Given the description of an element on the screen output the (x, y) to click on. 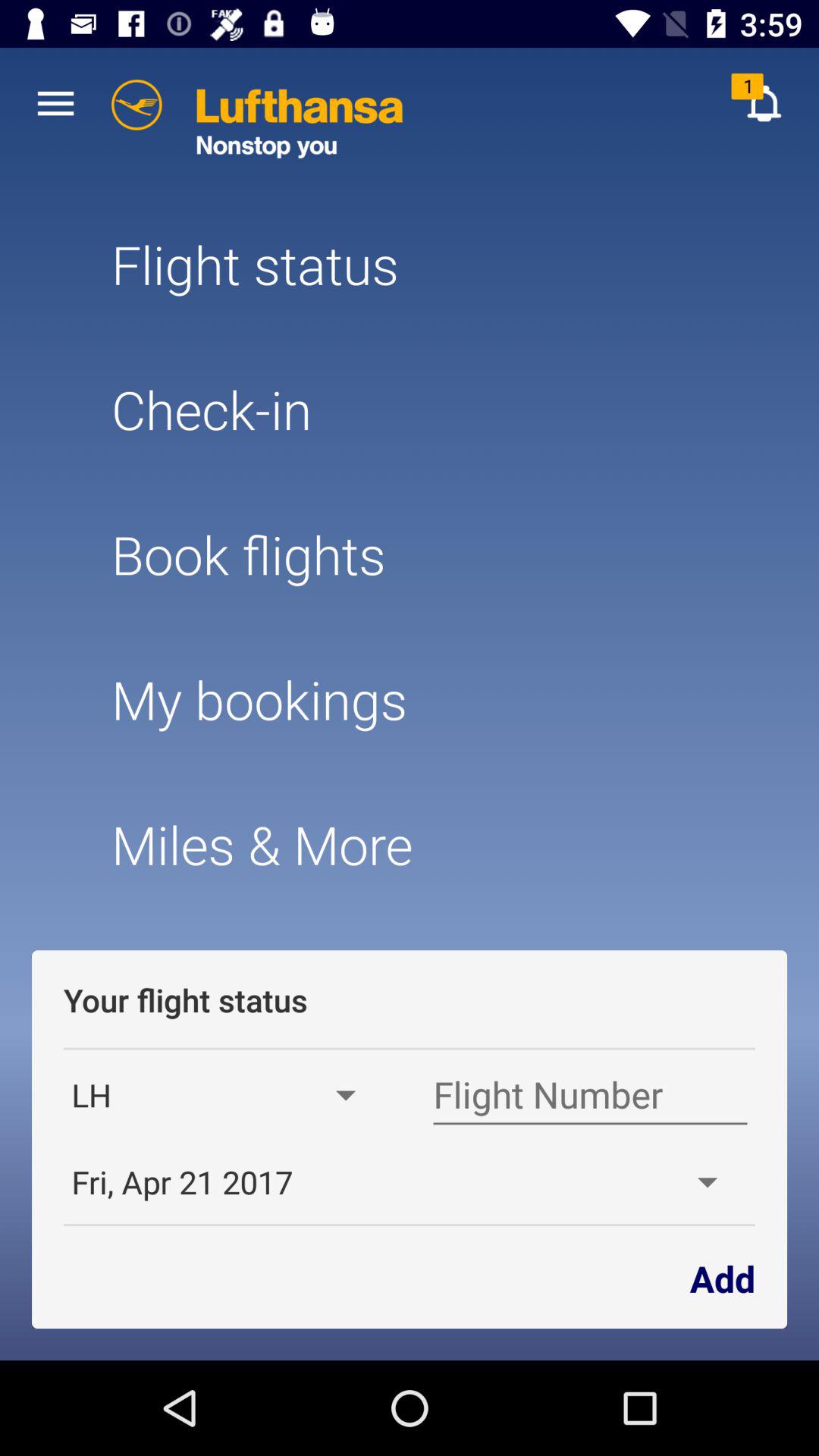
text box (590, 1094)
